Given the description of an element on the screen output the (x, y) to click on. 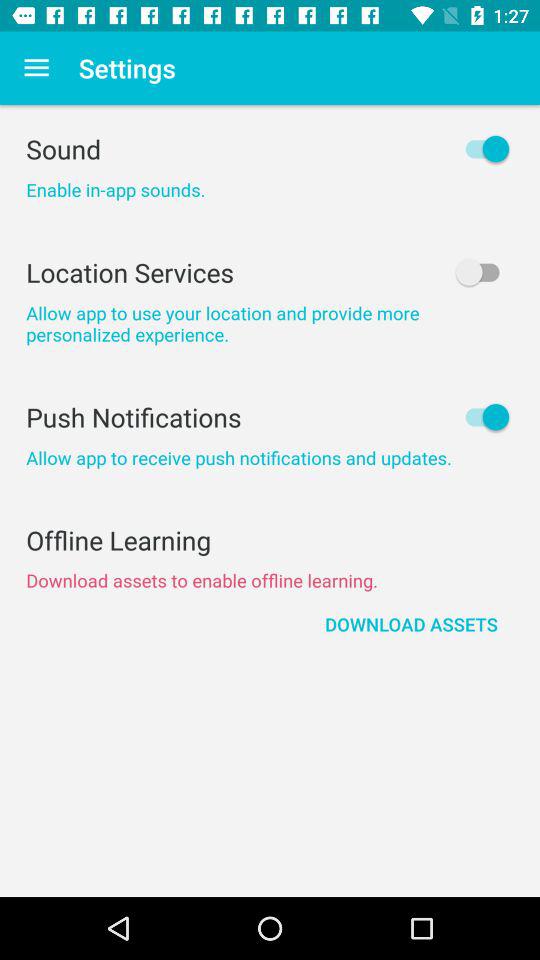
turn off the sound icon (269, 148)
